Given the description of an element on the screen output the (x, y) to click on. 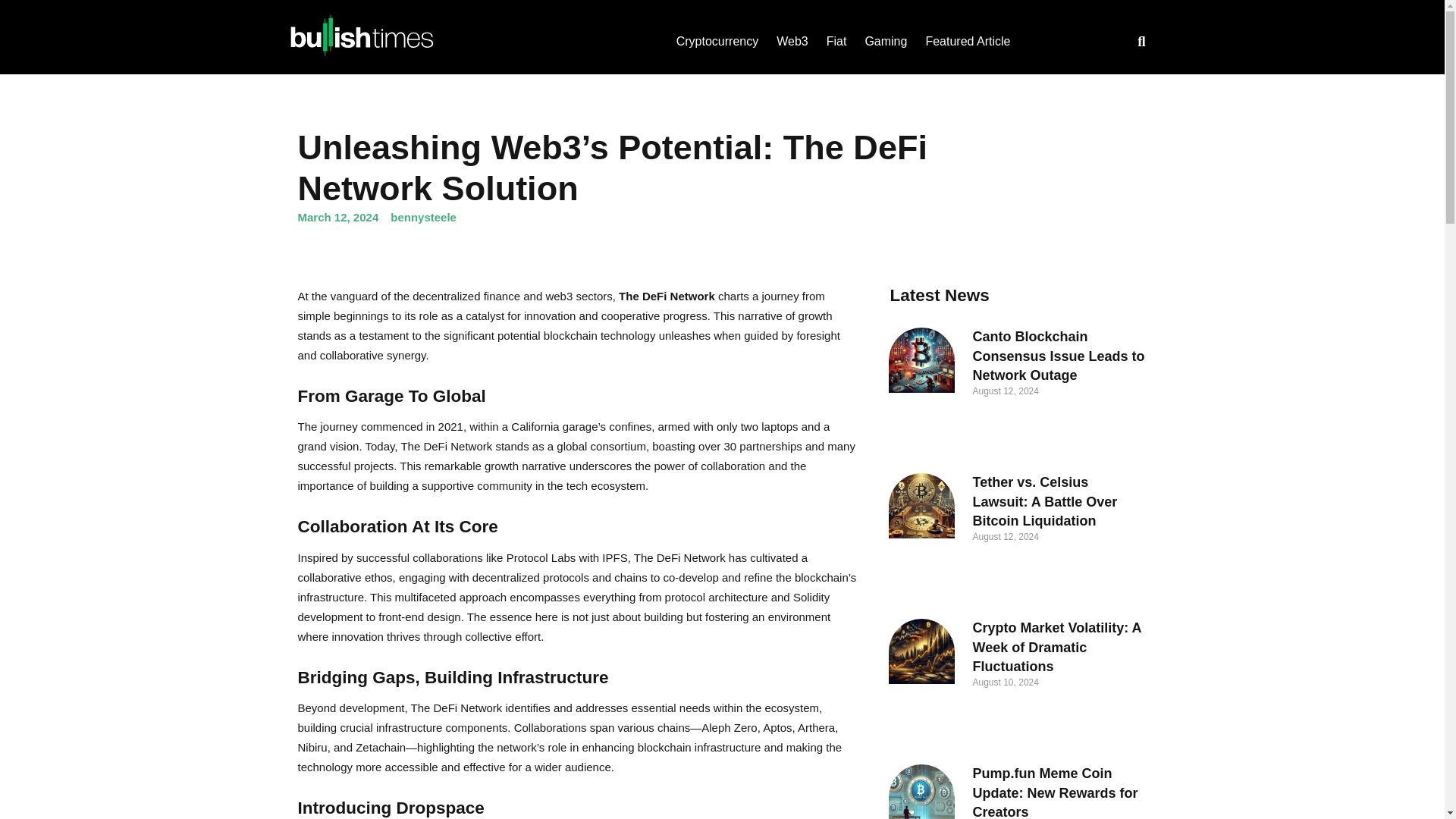
Crypto Market Volatility: A Week of Dramatic Fluctuations (1056, 646)
Featured Article (967, 41)
Gaming (885, 41)
Web3 (792, 41)
The DeFi Network (666, 295)
Pump.fun Meme Coin Update: New Rewards for Creators (1054, 792)
March 12, 2024 (337, 217)
bennysteele (423, 217)
Cryptocurrency (717, 41)
